Given the description of an element on the screen output the (x, y) to click on. 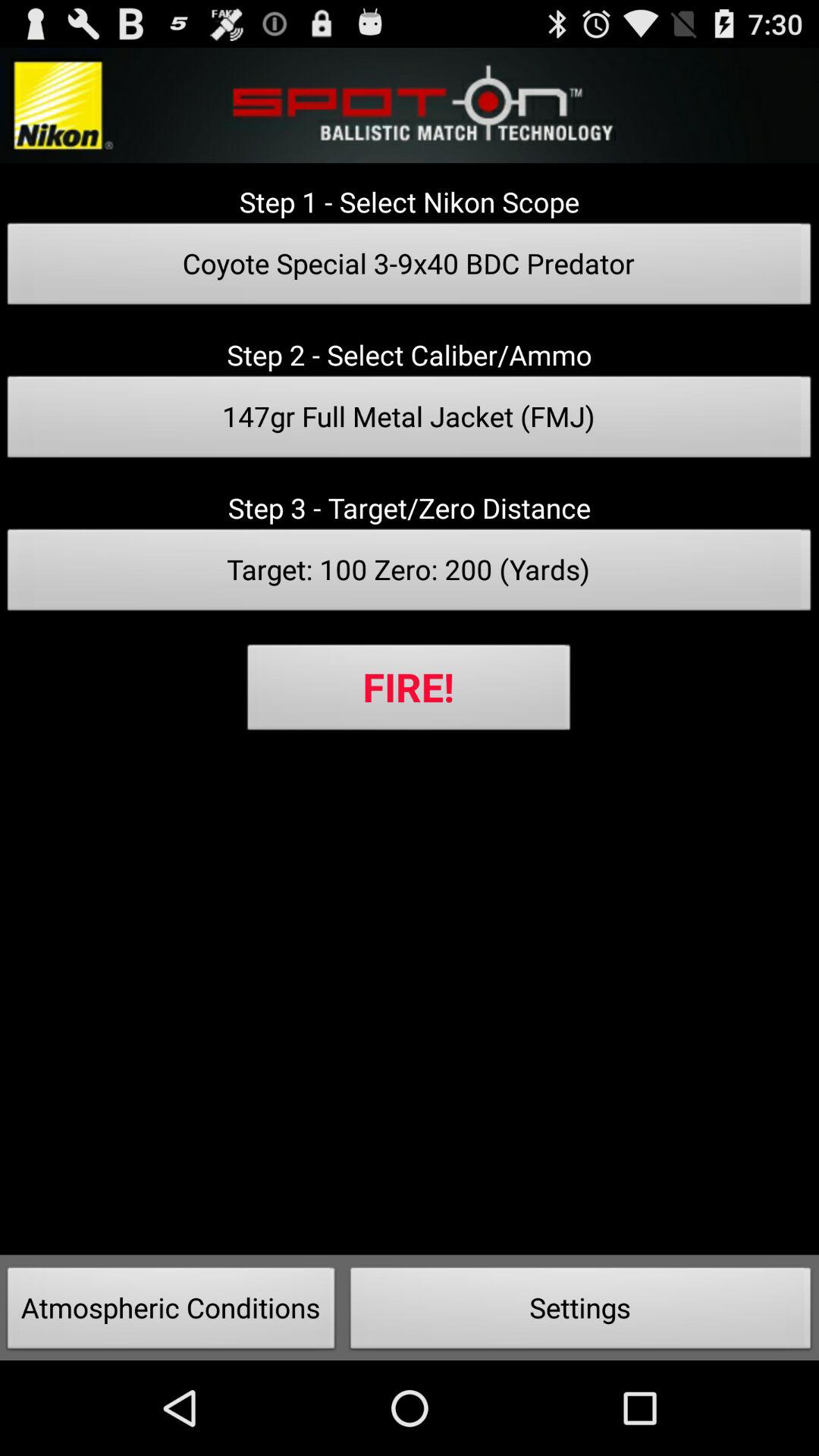
turn on item at the bottom left corner (171, 1312)
